Given the description of an element on the screen output the (x, y) to click on. 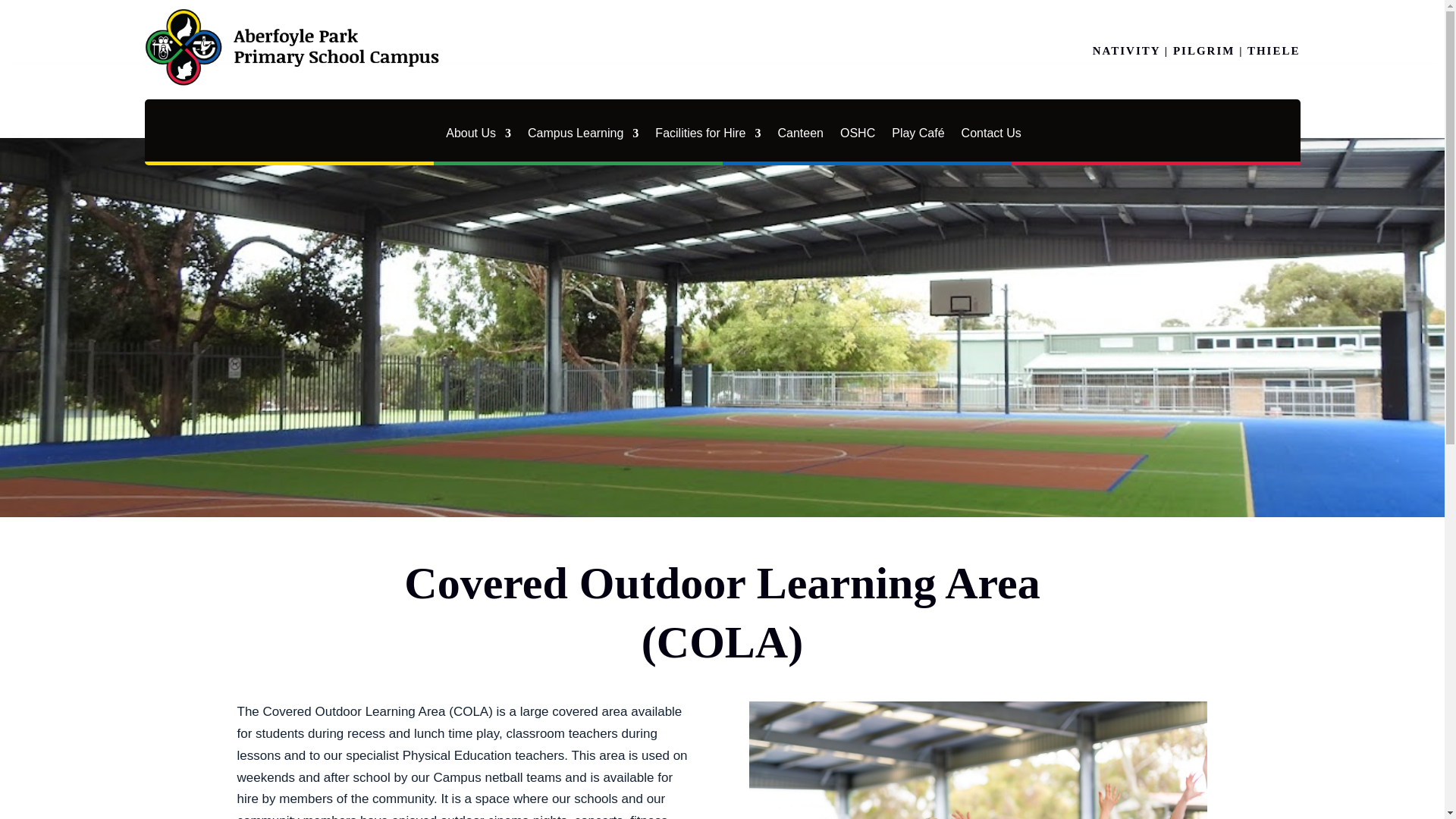
Facilities for Hire (707, 133)
Contact Us (991, 133)
THIELE (1273, 50)
About Us (478, 133)
7R301112 (978, 760)
NATIVITY (1126, 50)
Aberfoyle Park Primary School Campus logo-01 (295, 46)
PILGRIM (1203, 50)
Campus Learning (583, 133)
